Given the description of an element on the screen output the (x, y) to click on. 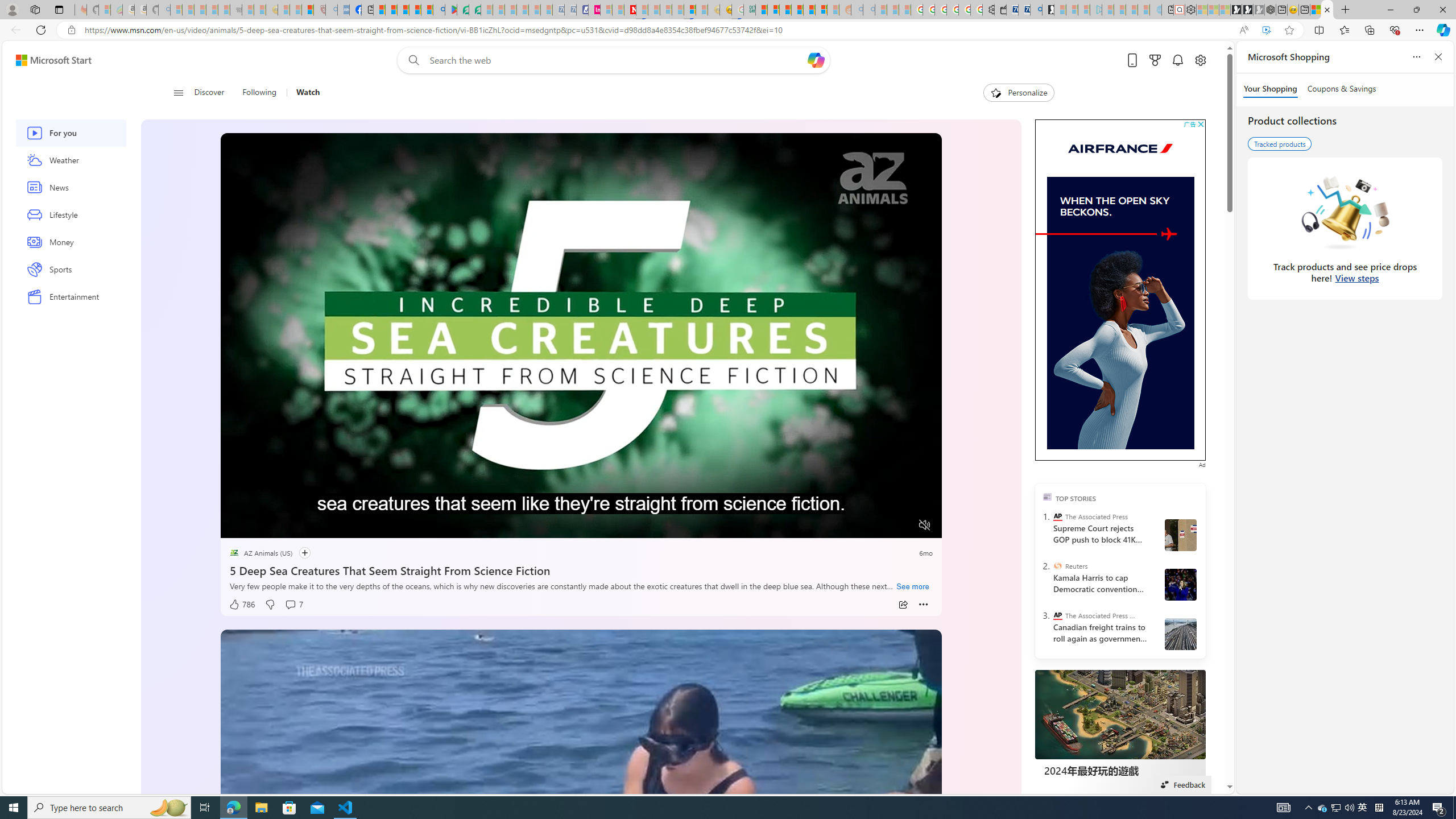
MSNBC - MSN (761, 9)
AutomationID: cbb (1200, 124)
Pets - MSN (415, 9)
Reuters (1057, 565)
Unmute (924, 524)
Bing Real Estate - Home sales and rental listings (1035, 9)
Personalize (1019, 92)
